Given the description of an element on the screen output the (x, y) to click on. 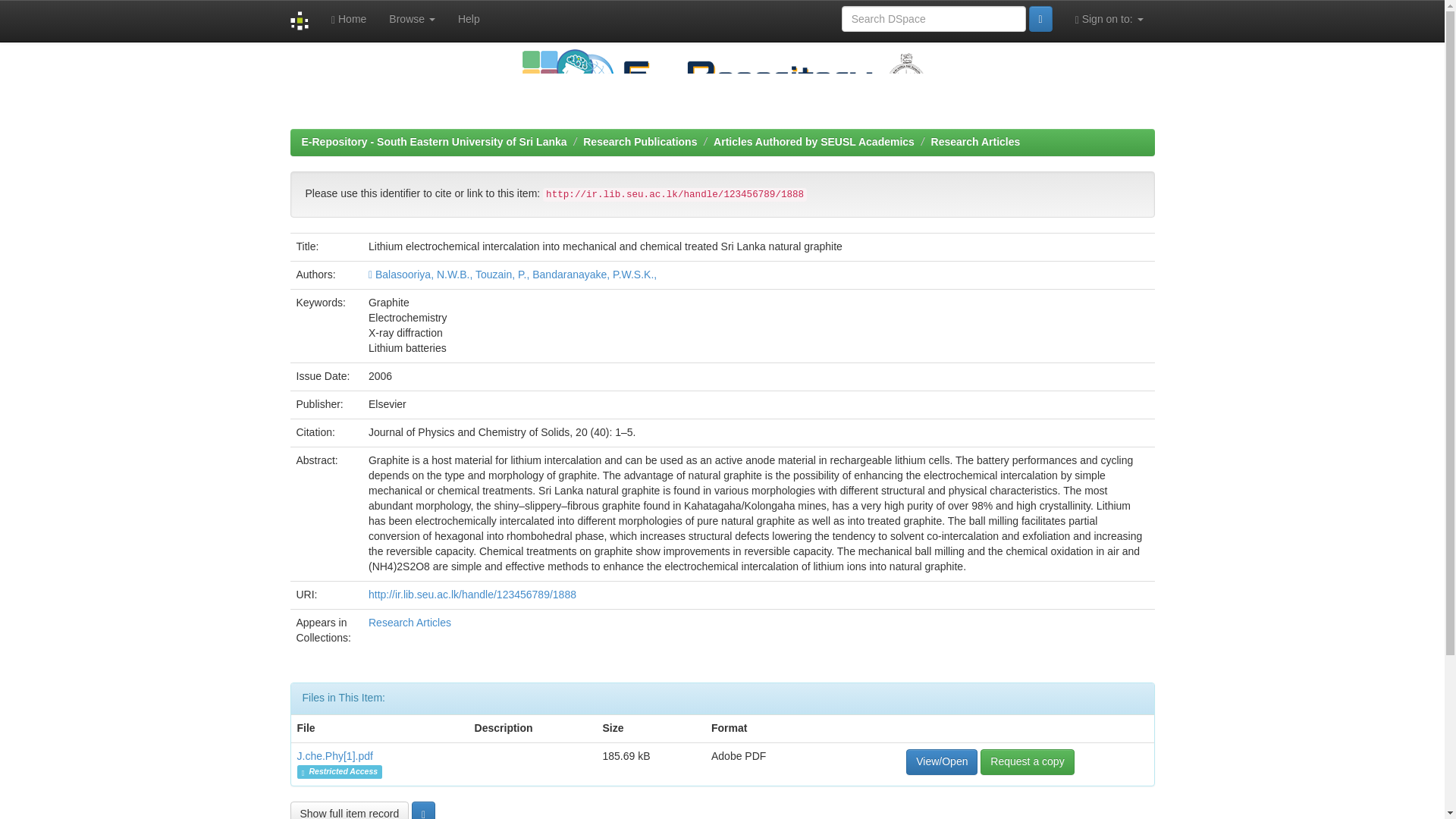
Show full item record (349, 810)
Browse (411, 18)
Help (469, 18)
E-Repository - South Eastern University of Sri Lanka (434, 141)
Research Publications (640, 141)
Sign on to: (1109, 18)
Home (348, 18)
Research Articles (409, 622)
Research Articles (975, 141)
Request a copy (1026, 761)
Articles Authored by SEUSL Academics (813, 141)
